Given the description of an element on the screen output the (x, y) to click on. 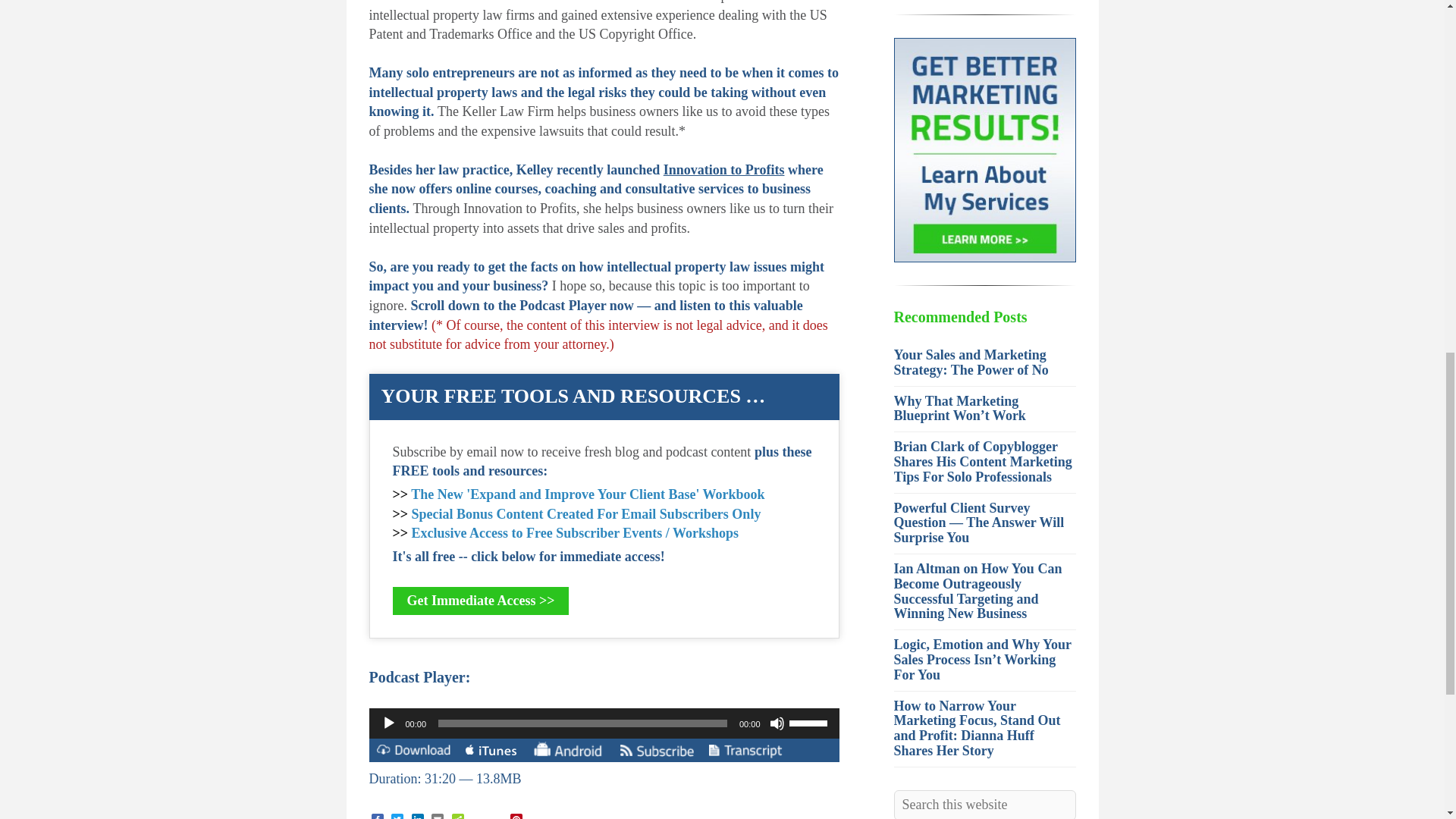
Download (412, 752)
Subscribe (657, 752)
Transcript (744, 752)
Innovation to Profits (723, 169)
Android (567, 749)
Innovation to Profits - home page (723, 169)
iTunes (490, 752)
Mute (776, 723)
Play (388, 723)
